Given the description of an element on the screen output the (x, y) to click on. 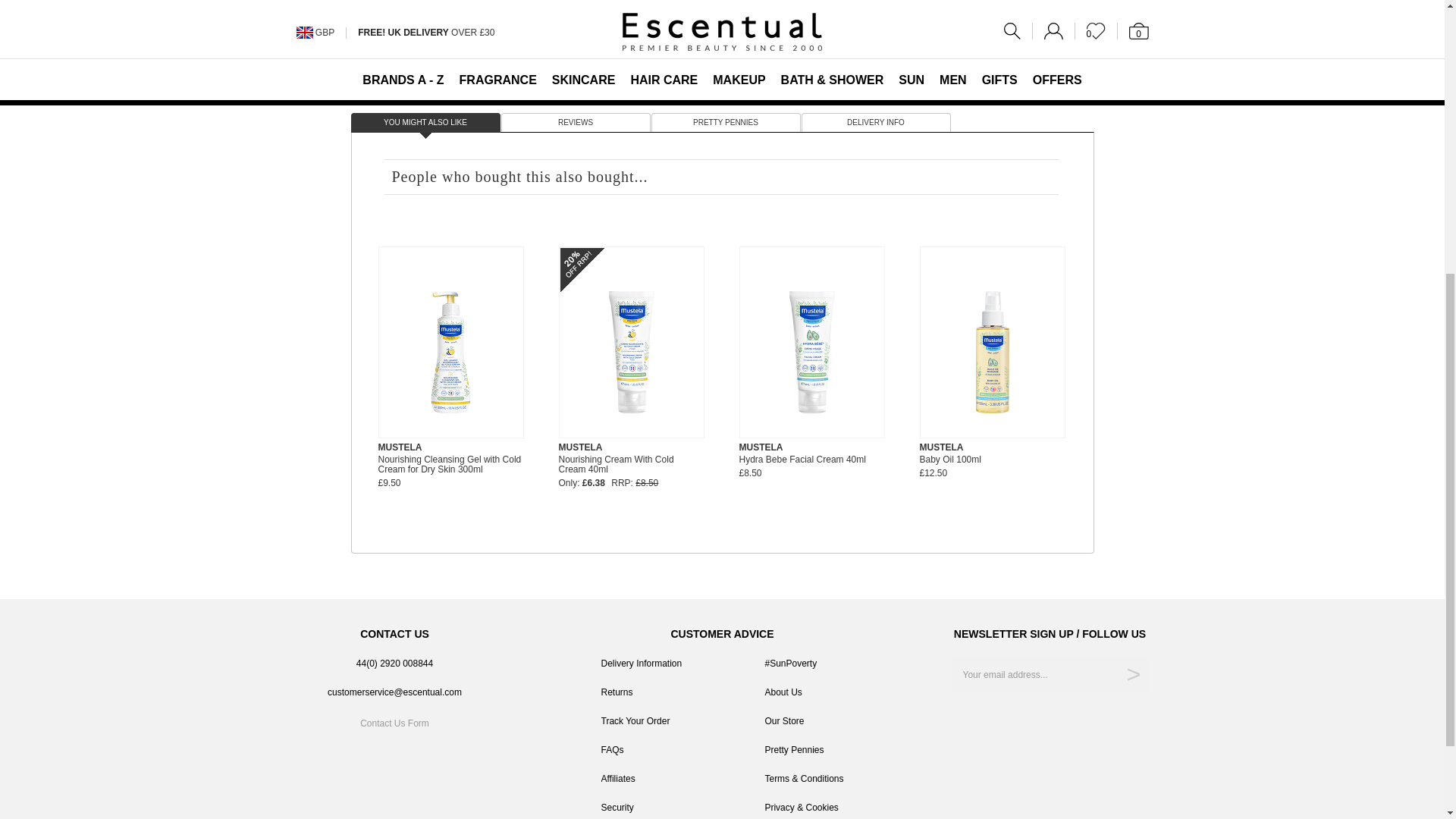
Mustela Nourishing Cream With Cold Cream 40ml (631, 352)
Add to Shopping Bag (1019, 47)
